Given the description of an element on the screen output the (x, y) to click on. 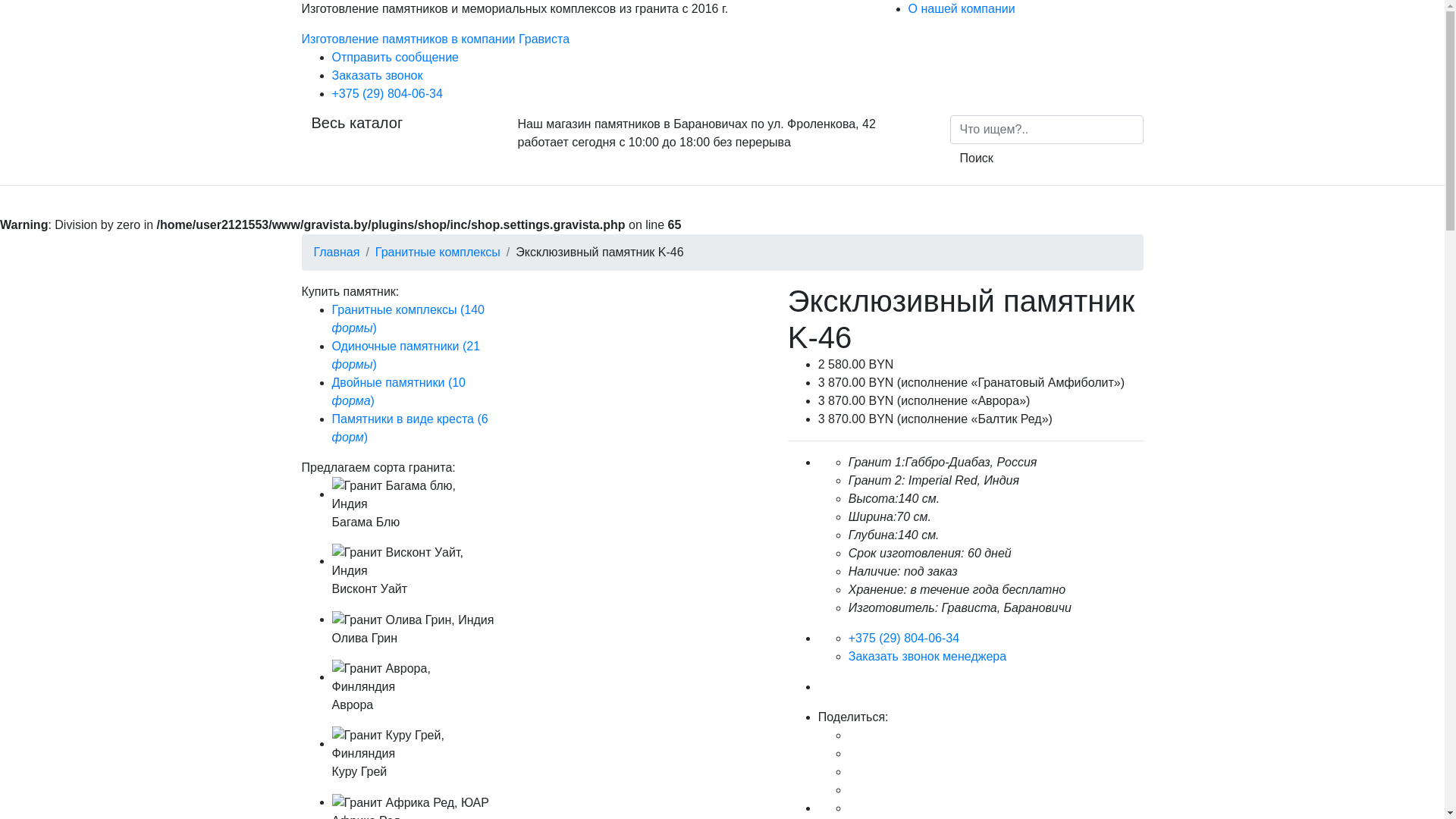
+375 (29) 804-06-34 Element type: text (387, 93)
+375 (29) 804-06-34 Element type: text (903, 637)
